Given the description of an element on the screen output the (x, y) to click on. 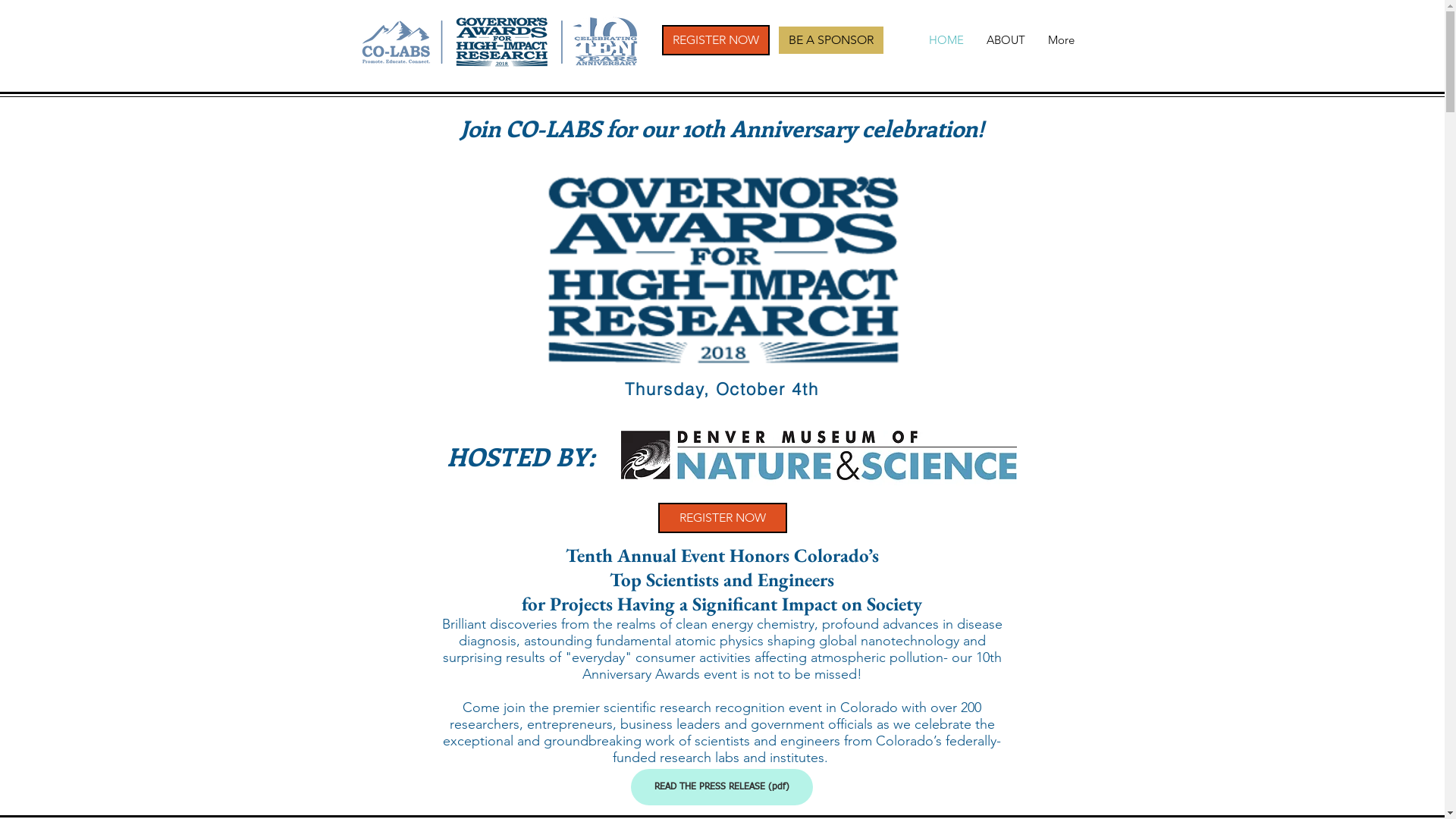
WEB-STAT Element type: hover (426, 359)
REGISTER NOW Element type: text (722, 517)
READ THE PRESS RELEASE (pdf) Element type: text (721, 786)
HOME Element type: text (946, 40)
REGISTER NOW Element type: text (714, 40)
BE A SPONSOR Element type: text (830, 40)
ABOUT Element type: text (1005, 40)
